Given the description of an element on the screen output the (x, y) to click on. 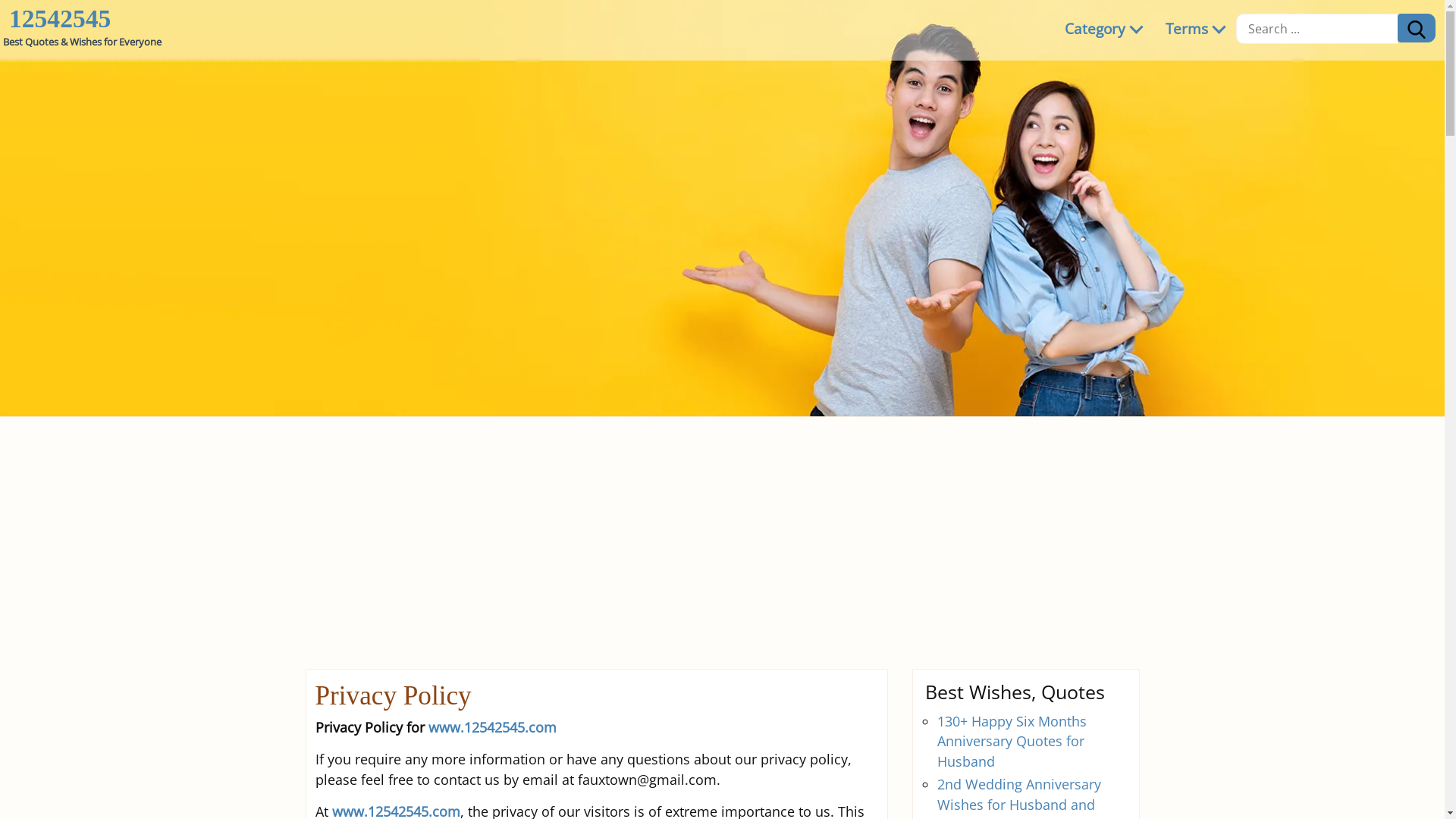
Advertisement Element type: hover (721, 530)
130+ Happy Six Months Anniversary Quotes for Husband Element type: text (1011, 741)
www.12542545.com Element type: text (491, 727)
12542545 Element type: text (59, 18)
